Given the description of an element on the screen output the (x, y) to click on. 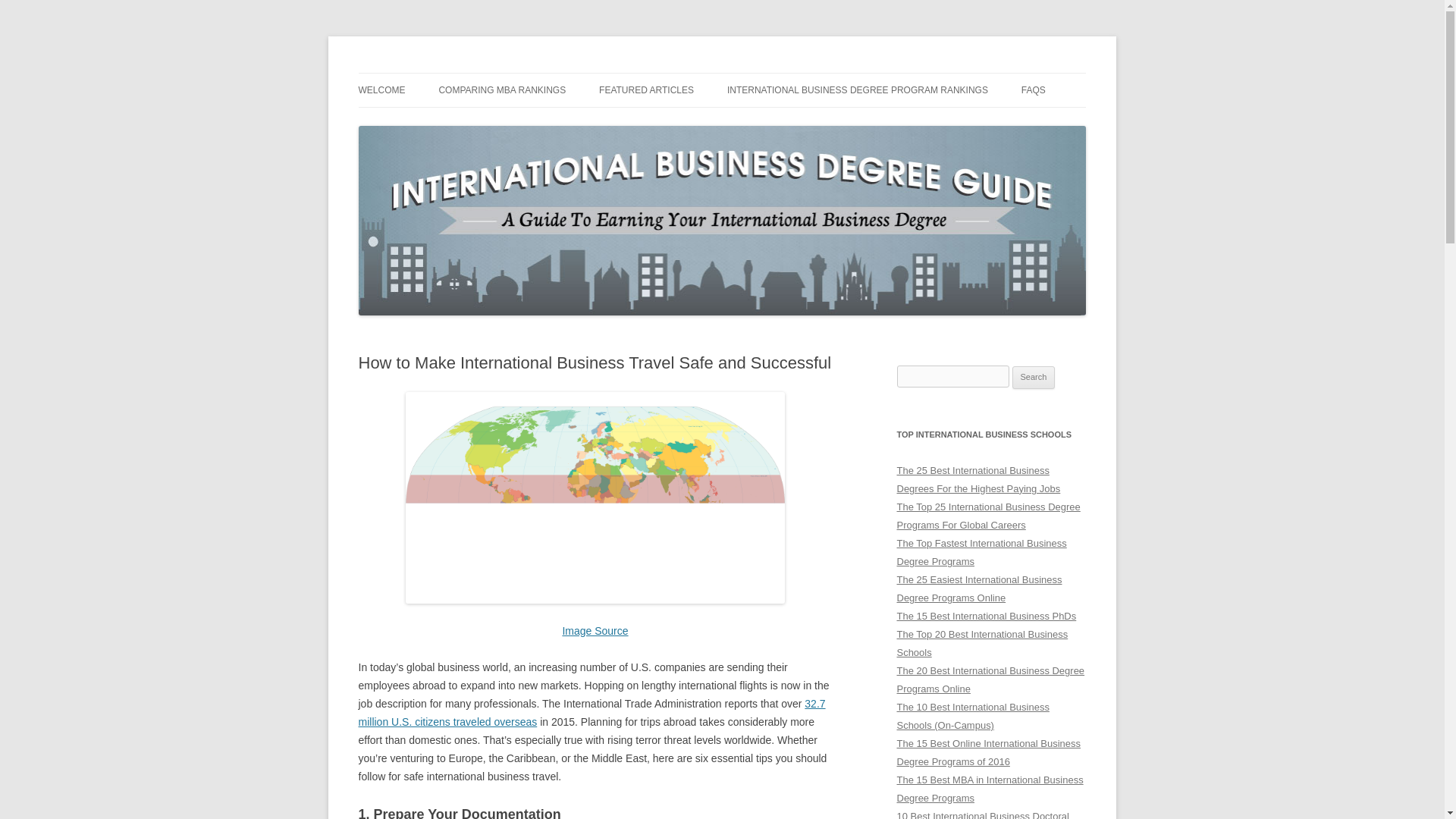
10 Best International Business Doctoral Degree Programs (982, 814)
INTERNATIONAL BUSINESS DEGREE PROGRAM RANKINGS (857, 90)
Search (1033, 377)
The 15 Best MBA in International Business Degree Programs (989, 788)
WELCOME (381, 90)
Search (1033, 377)
COMPARING MBA RANKINGS (502, 90)
FEATURED ARTICLES (646, 90)
The Top Fastest International Business Degree Programs (980, 552)
